Given the description of an element on the screen output the (x, y) to click on. 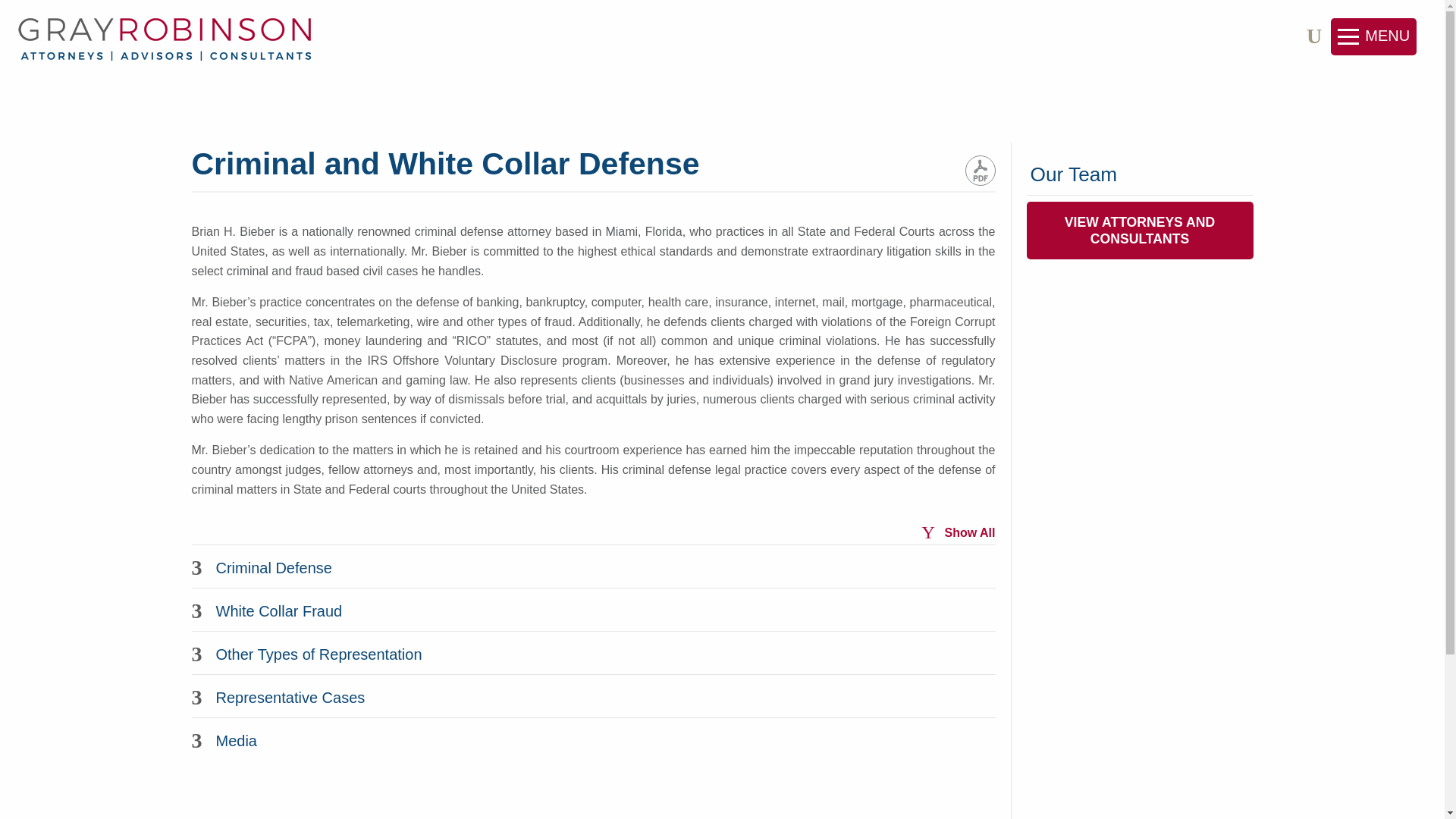
White Collar Fraud (592, 609)
Criminal Defense (592, 566)
Show All (957, 531)
Other Types of Representation (592, 652)
Media (592, 738)
Representative Cases (592, 695)
MENU (1373, 36)
